Given the description of an element on the screen output the (x, y) to click on. 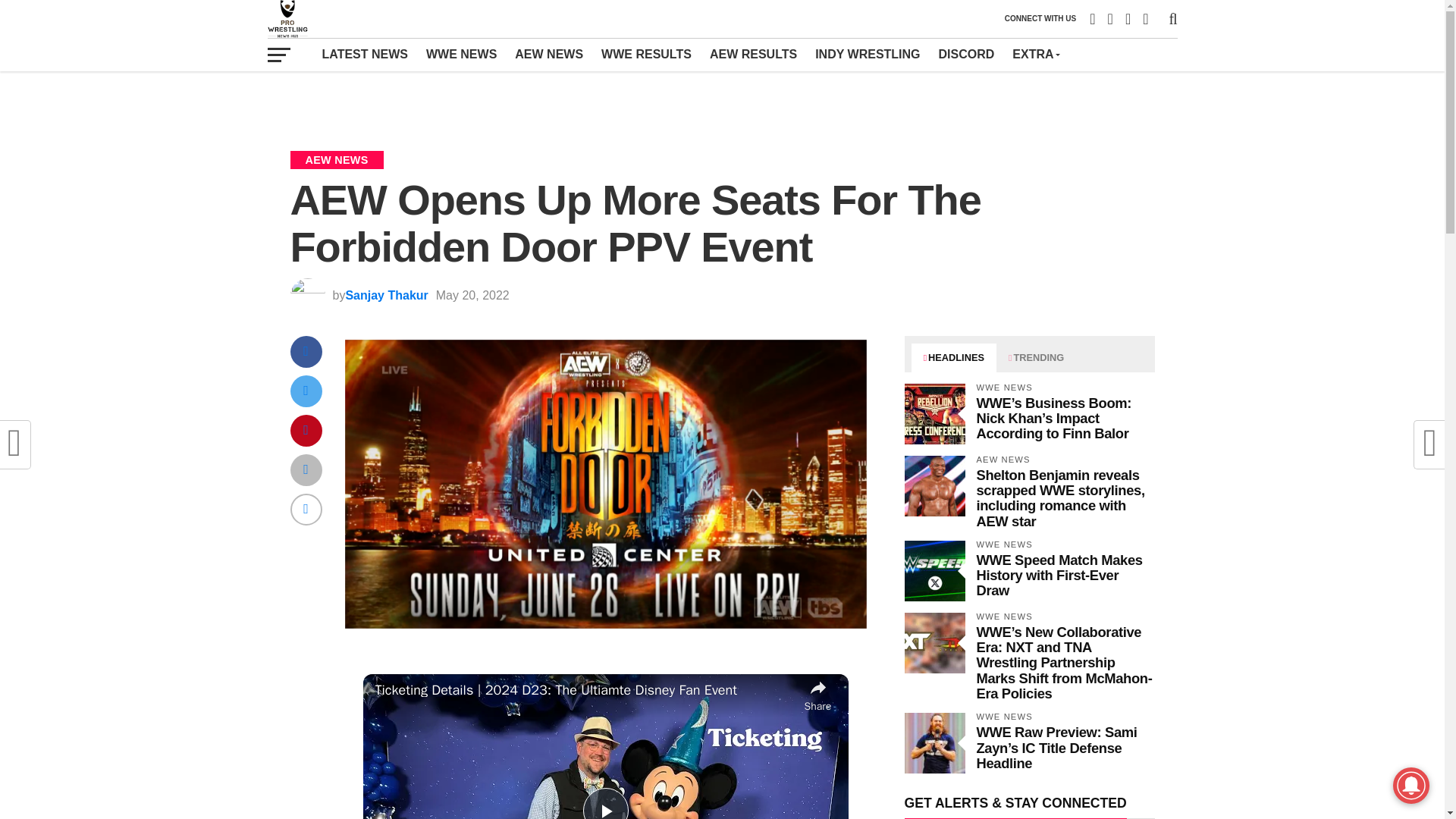
Play Video (604, 803)
EXTRA (1035, 54)
INDY WRESTLING (867, 54)
DISCORD (967, 54)
Posts by Sanjay Thakur (386, 295)
LATEST NEWS (364, 54)
AEW RESULTS (753, 54)
AEW NEWS (548, 54)
WWE RESULTS (646, 54)
WWE NEWS (460, 54)
